Given the description of an element on the screen output the (x, y) to click on. 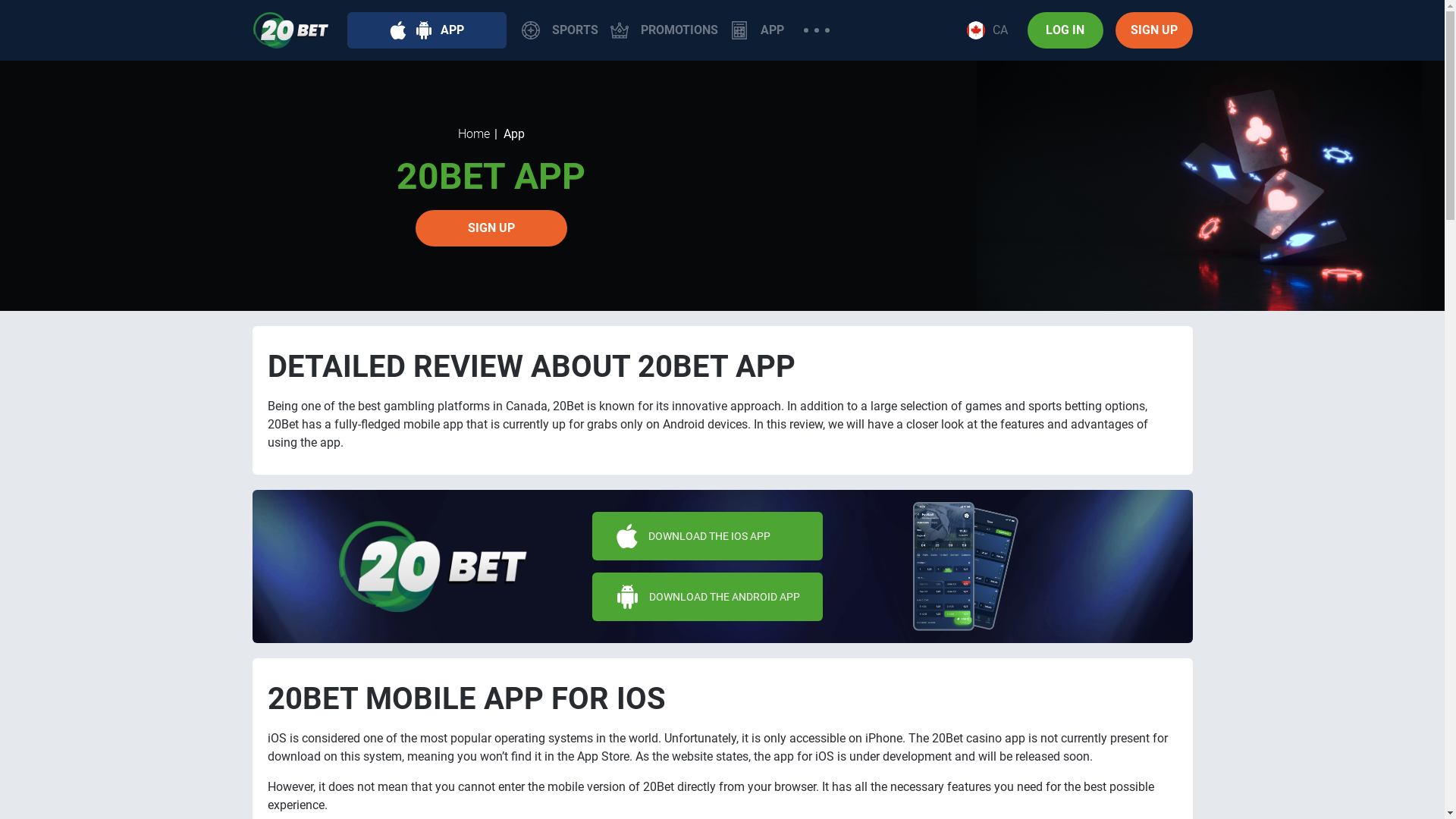
Promotions Element type: hover (618, 30)
20Bet Element type: hover (289, 30)
20Bet App Element type: hover (966, 566)
CA Element type: text (986, 30)
APP Element type: text (426, 30)
SIGN UP Element type: text (1153, 30)
iOS Element type: hover (627, 536)
20Bet App Element type: hover (1198, 185)
LOG IN Element type: text (1064, 30)
SPORTS Element type: text (559, 30)
DOWNLOAD THE IOS APP Element type: text (707, 535)
iOS Element type: hover (398, 30)
Android Element type: hover (423, 30)
SIGN UP Element type: text (491, 228)
20Bet Element type: hover (433, 565)
flag Element type: hover (975, 30)
App Element type: hover (738, 30)
APP Element type: text (756, 30)
Home Element type: text (473, 133)
DOWNLOAD THE ANDROID APP Element type: text (707, 596)
20Bet Mobile App Element type: hover (721, 566)
Sports Element type: hover (530, 30)
PROMOTIONS Element type: text (663, 30)
android Element type: hover (627, 596)
